Given the description of an element on the screen output the (x, y) to click on. 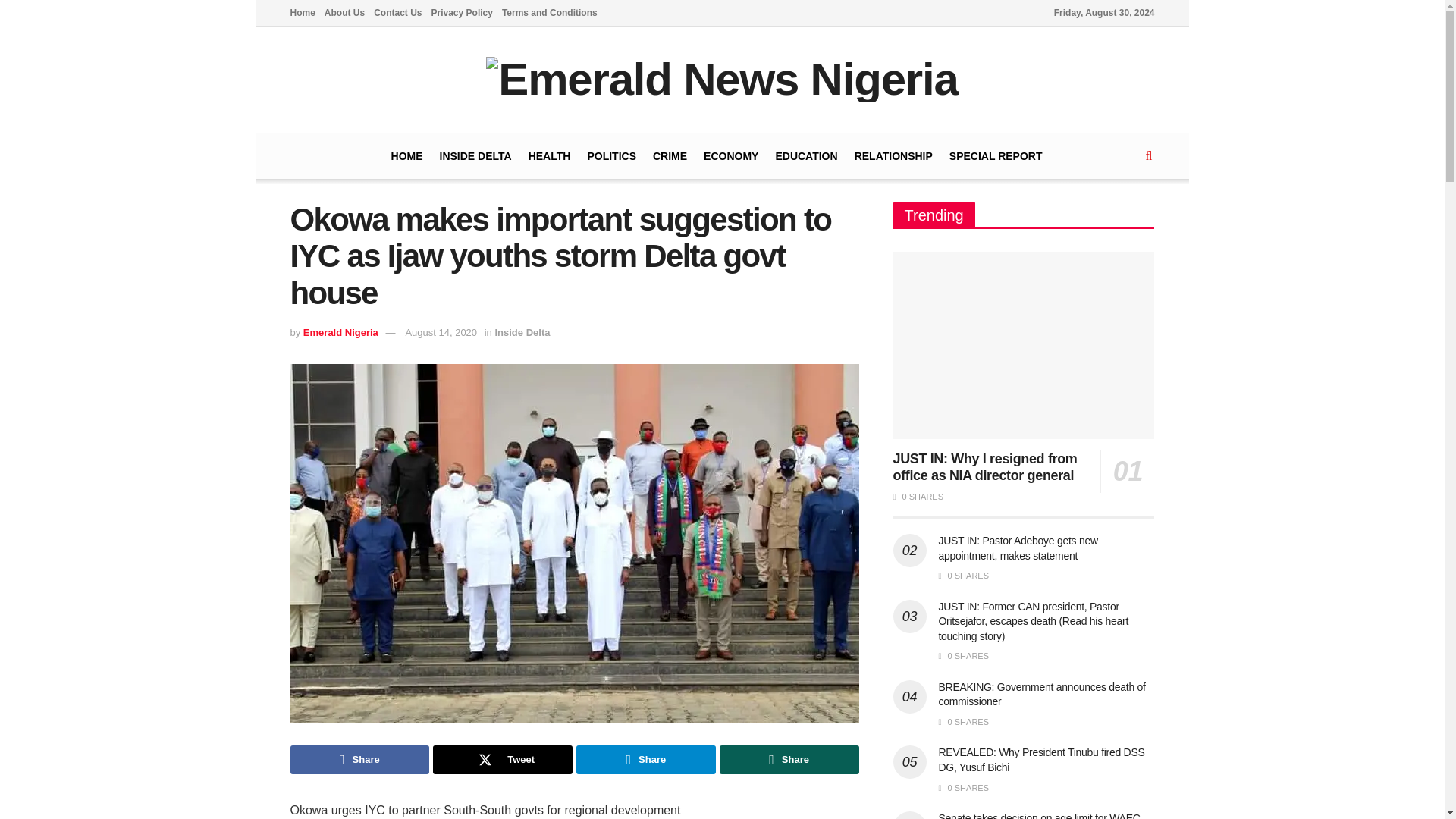
Emerald Nigeria (340, 332)
CRIME (669, 156)
Share (359, 759)
Contact Us (398, 12)
Share (789, 759)
HOME (407, 156)
HEALTH (549, 156)
POLITICS (611, 156)
Terms and Conditions (549, 12)
Share (646, 759)
